Given the description of an element on the screen output the (x, y) to click on. 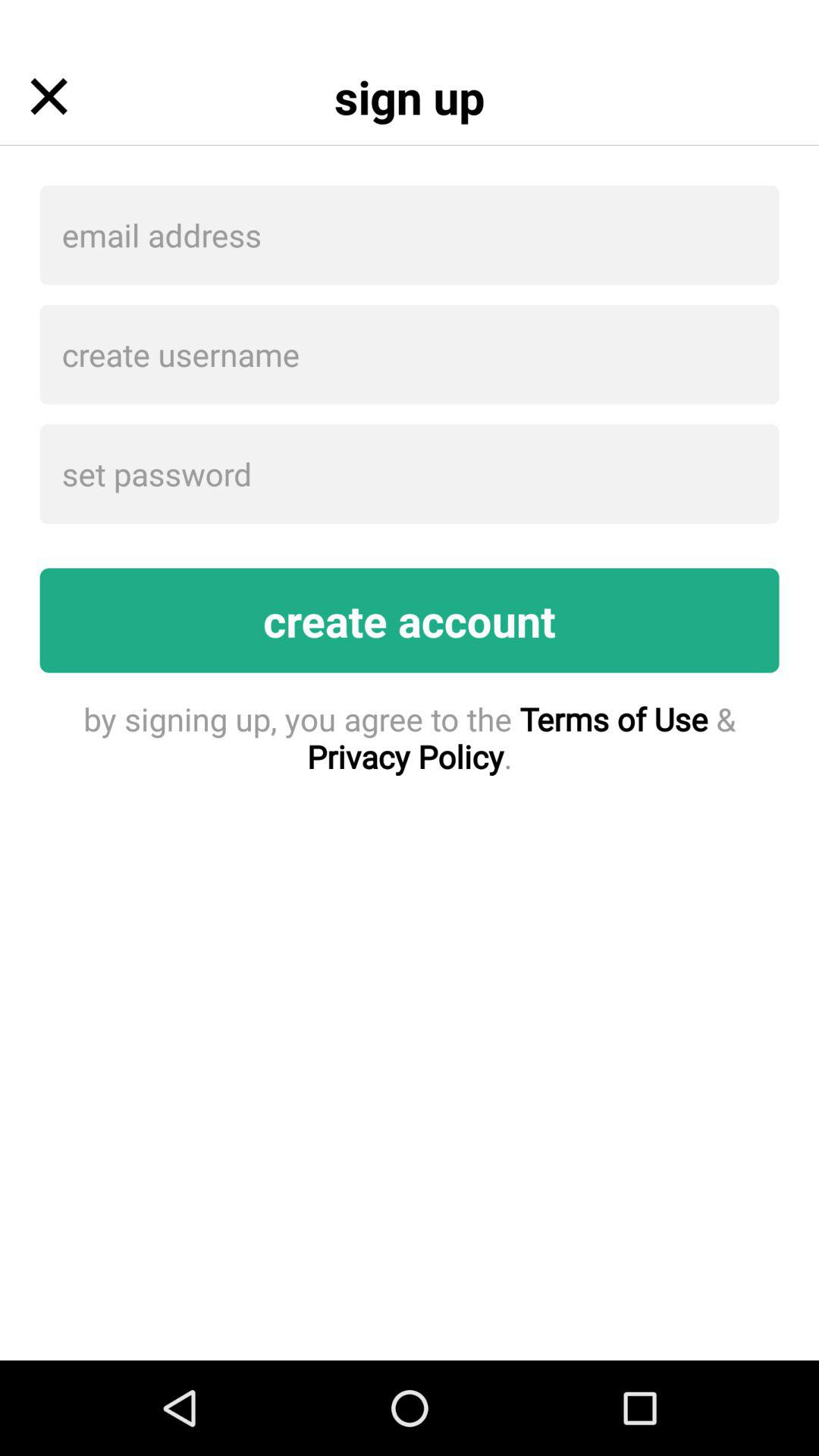
scroll until create account (409, 620)
